Given the description of an element on the screen output the (x, y) to click on. 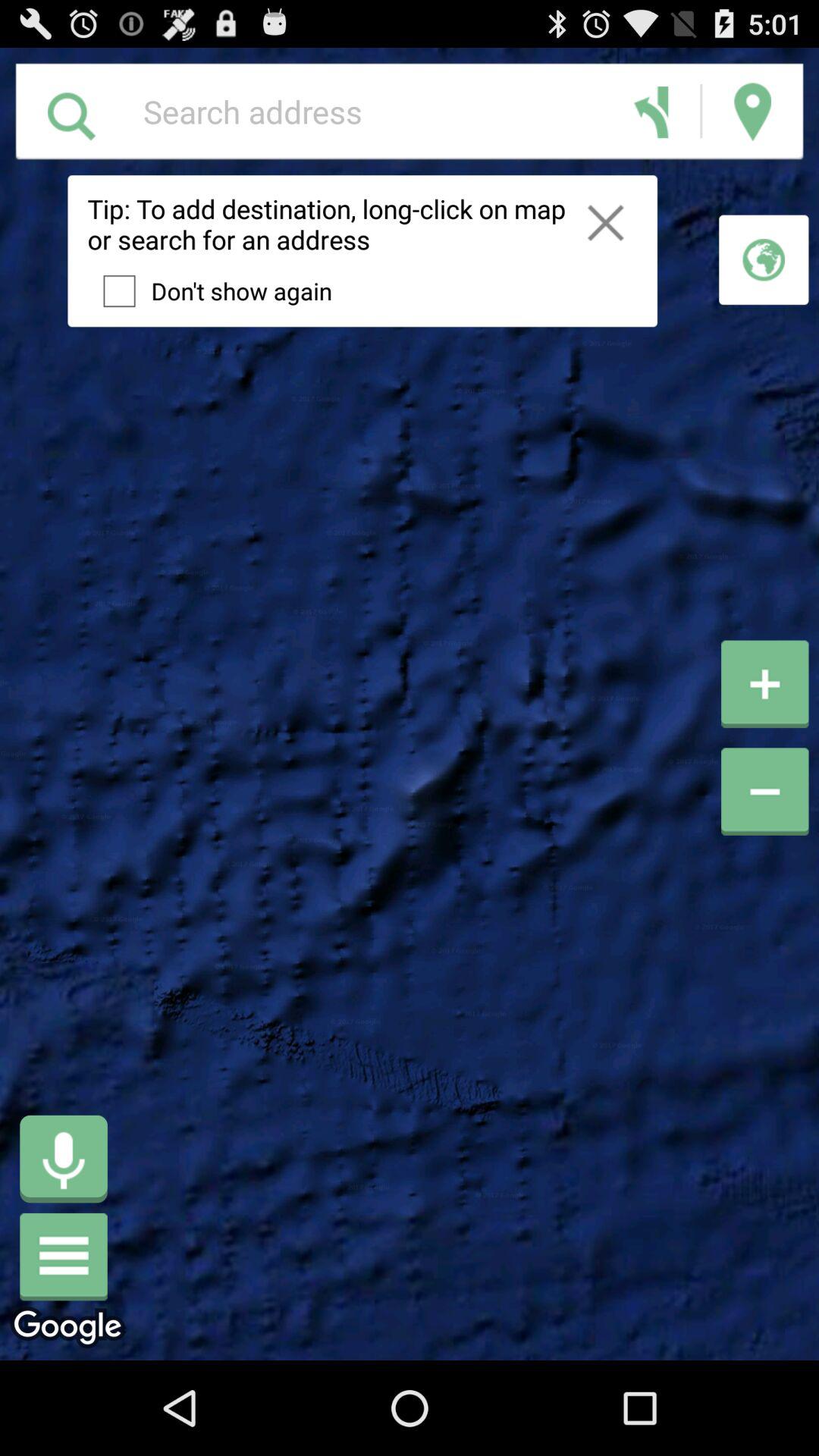
choose item below don t show (63, 1158)
